Given the description of an element on the screen output the (x, y) to click on. 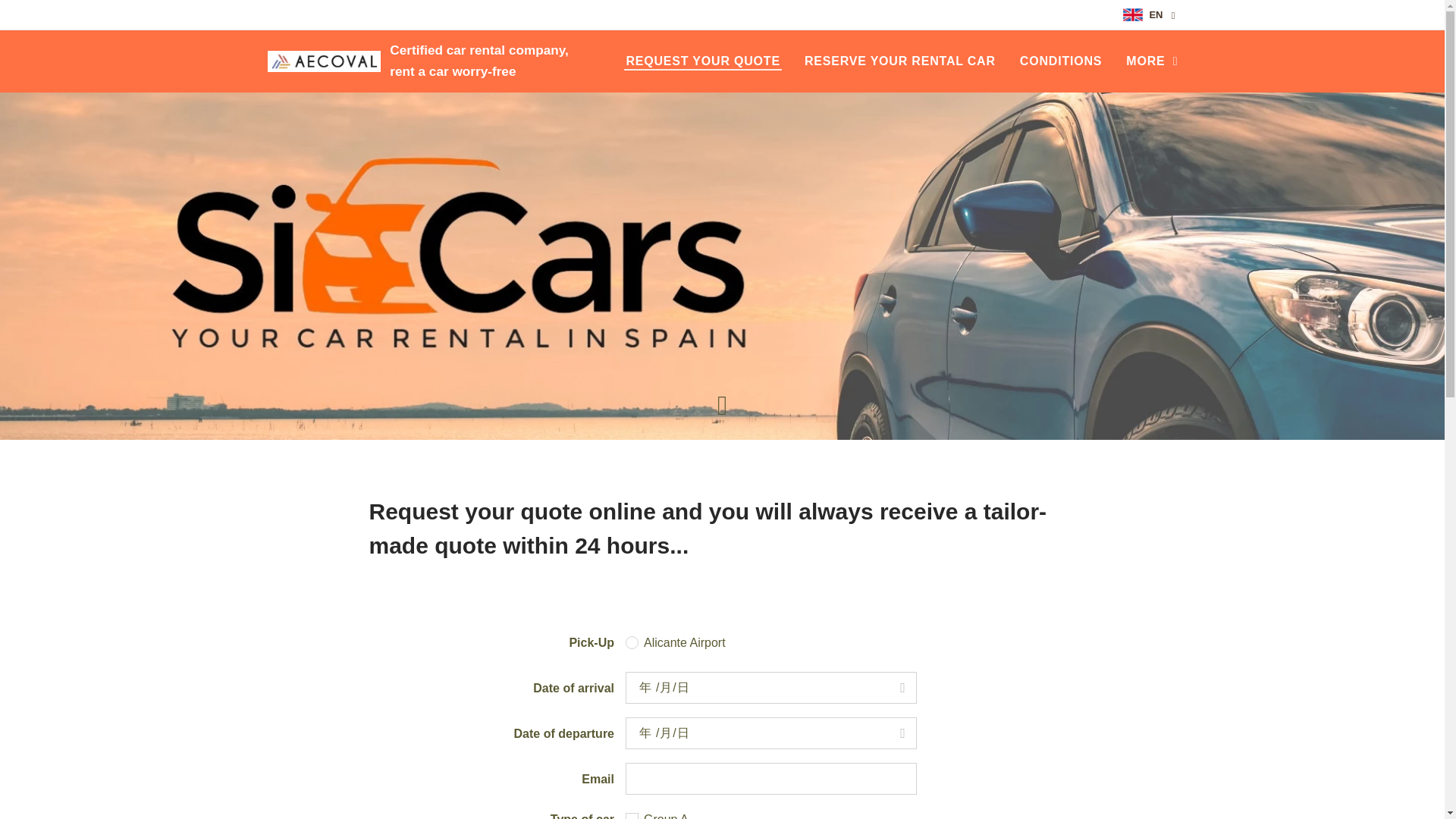
RESERVE YOUR RENTAL CAR (899, 61)
MORE (1144, 61)
CONDITIONS (1060, 61)
REQUEST YOUR QUOTE (706, 61)
